Given the description of an element on the screen output the (x, y) to click on. 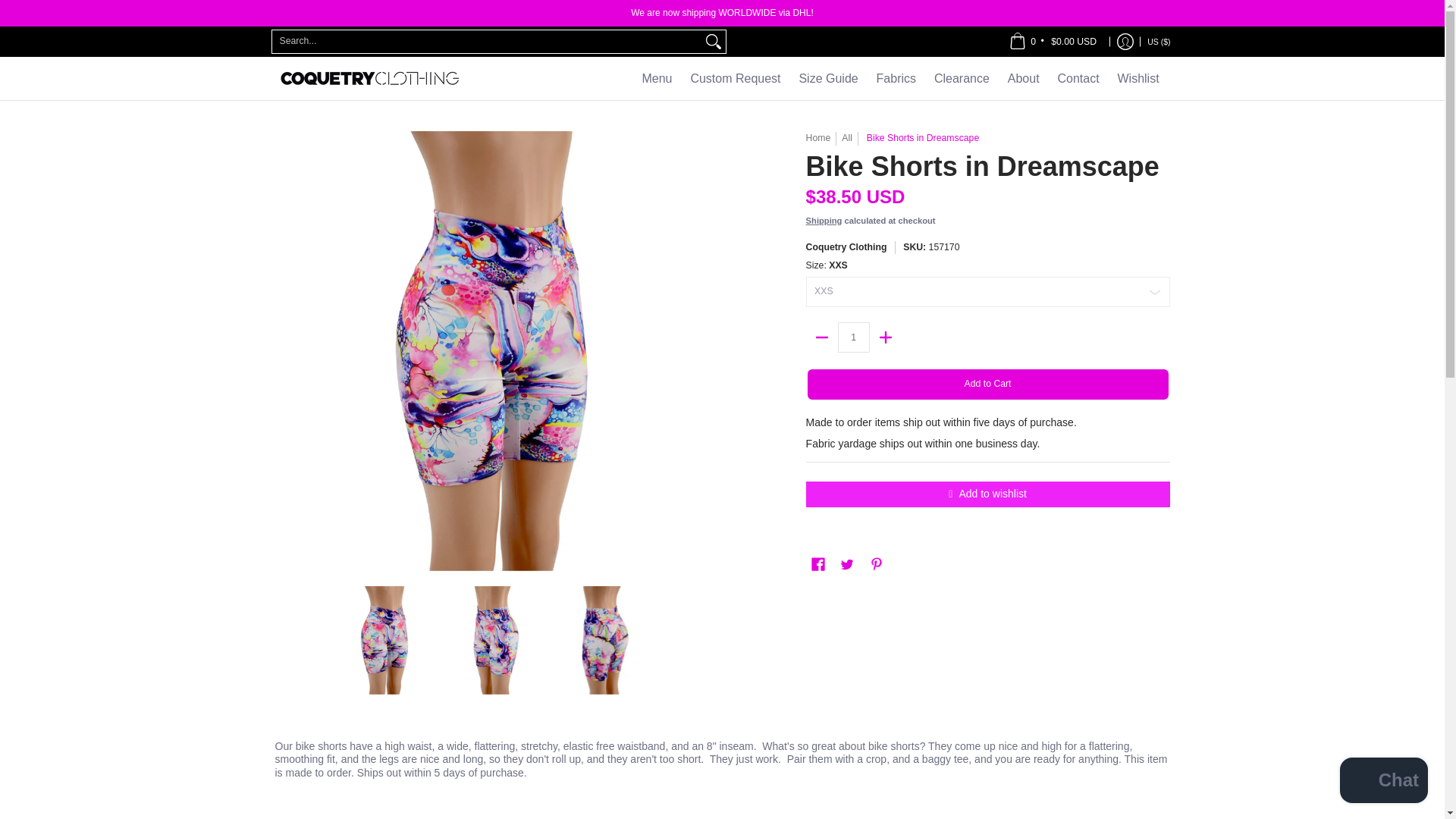
CV (1076, 28)
Cart (1053, 41)
Coquetry Clothing (369, 77)
1 (853, 337)
Menu (656, 77)
Log in (1124, 41)
BQ (1099, 58)
CA (1067, 3)
